Given the description of an element on the screen output the (x, y) to click on. 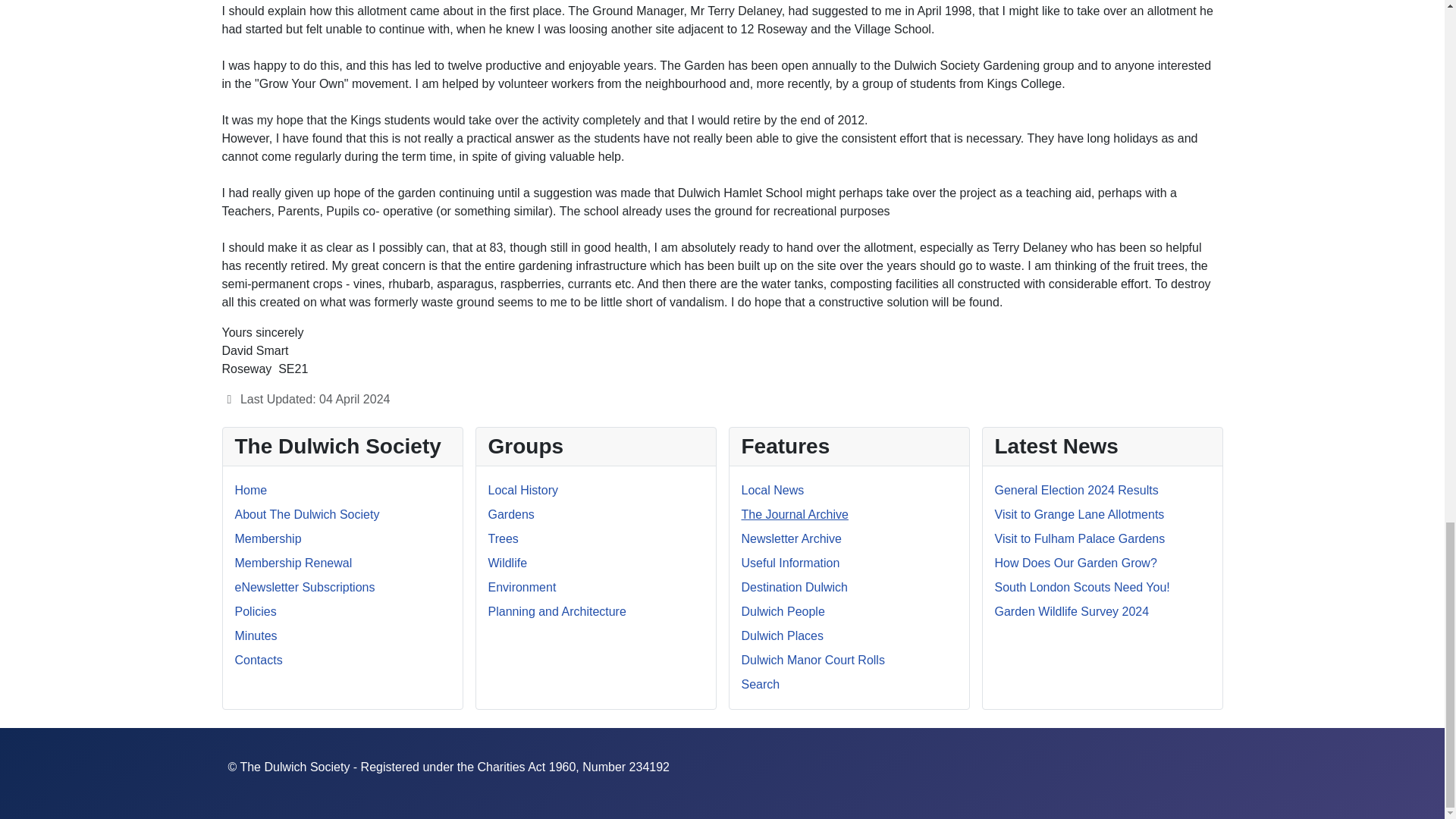
Gardens (510, 513)
Policies (255, 611)
Visit to Fulham Palace Gardens (1080, 538)
Destination Dulwich (794, 586)
Useful Information (790, 562)
Trees (502, 538)
Dulwich Places (782, 635)
Planning and Architecture (556, 611)
Membership (267, 538)
Dulwich Manor Court Rolls (813, 659)
How Does Our Garden Grow? (1075, 562)
Contacts (258, 659)
The Journal Archive (794, 513)
Home (250, 490)
Visit to Grange Lane Allotments (1079, 513)
